Given the description of an element on the screen output the (x, y) to click on. 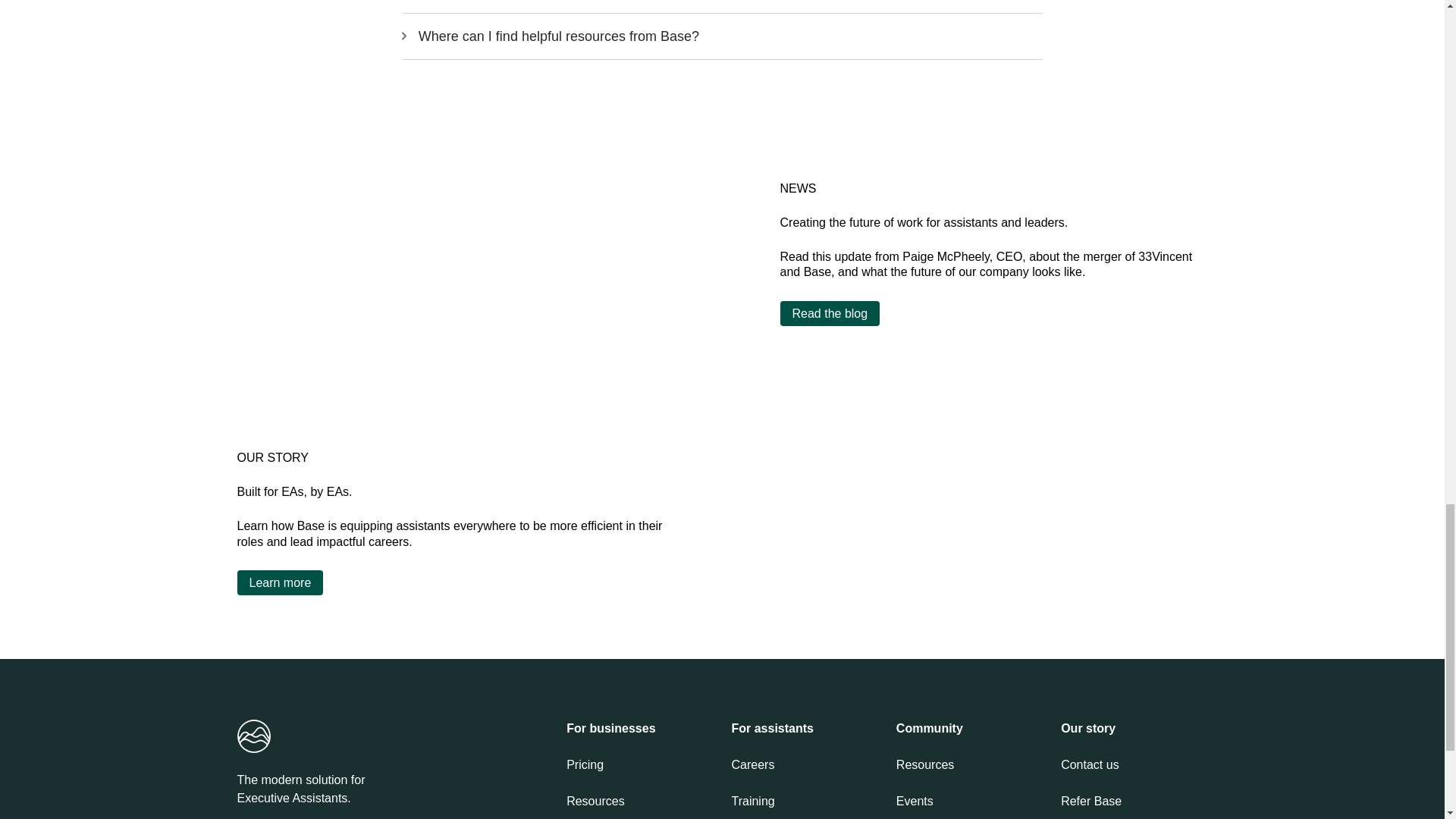
Where can I find helpful resources from Base? (721, 35)
I am an EA looking for a new role. Can you still help me? (721, 6)
Learn more (279, 582)
Read the blog (828, 313)
